Given the description of an element on the screen output the (x, y) to click on. 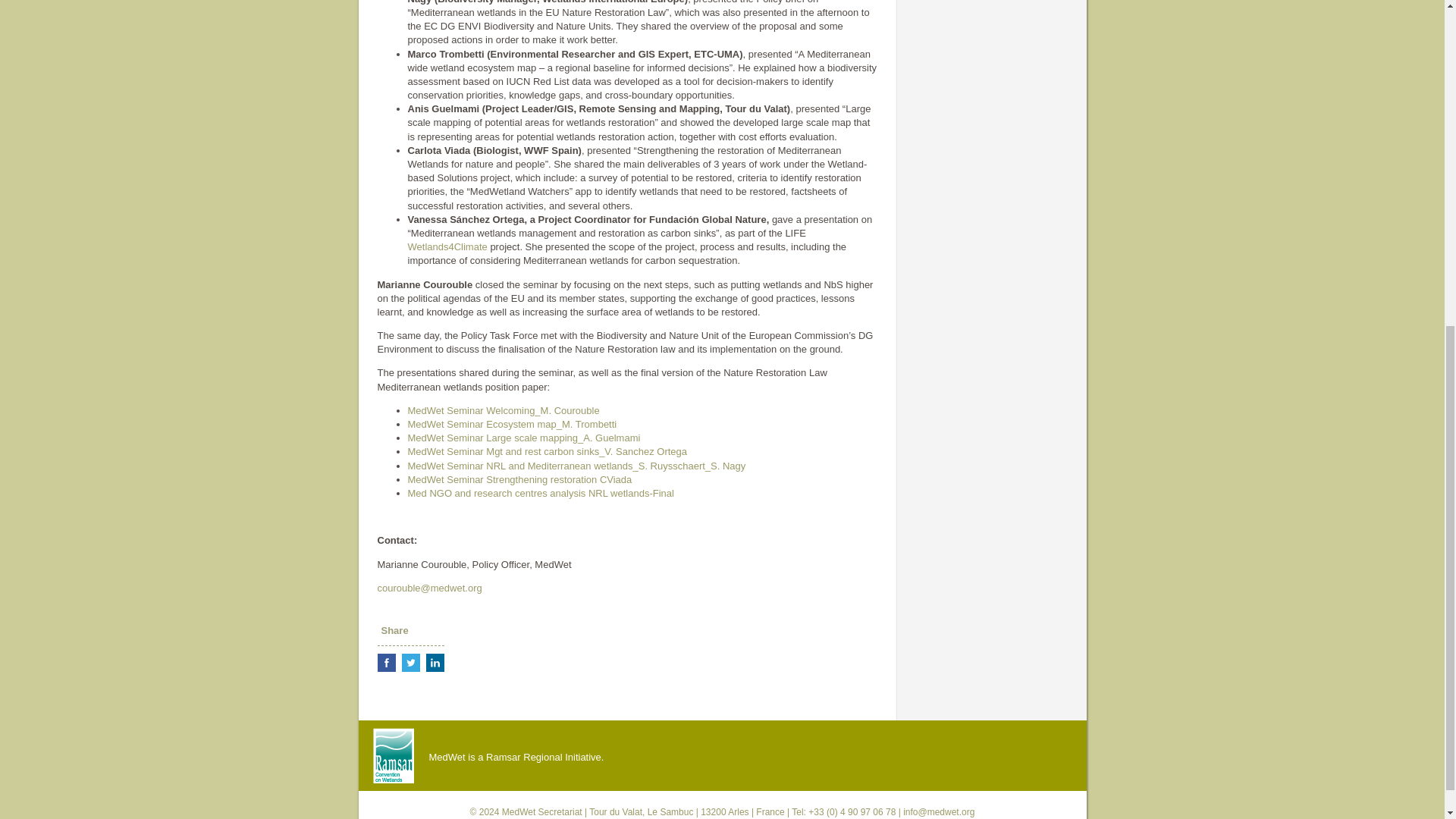
MedWet Seminar Strengthening restoration CViada (519, 479)
Share this post on Twitter (410, 662)
Med NGO and research centres analysis NRL wetlands-Final (540, 492)
Wetlands4Climate (447, 246)
Share on Facebook (386, 662)
Share this post on LinkedIn (435, 662)
Share on LinkedIn (435, 662)
Share this post on Facebook (386, 662)
Share on Twitter (410, 662)
